Given the description of an element on the screen output the (x, y) to click on. 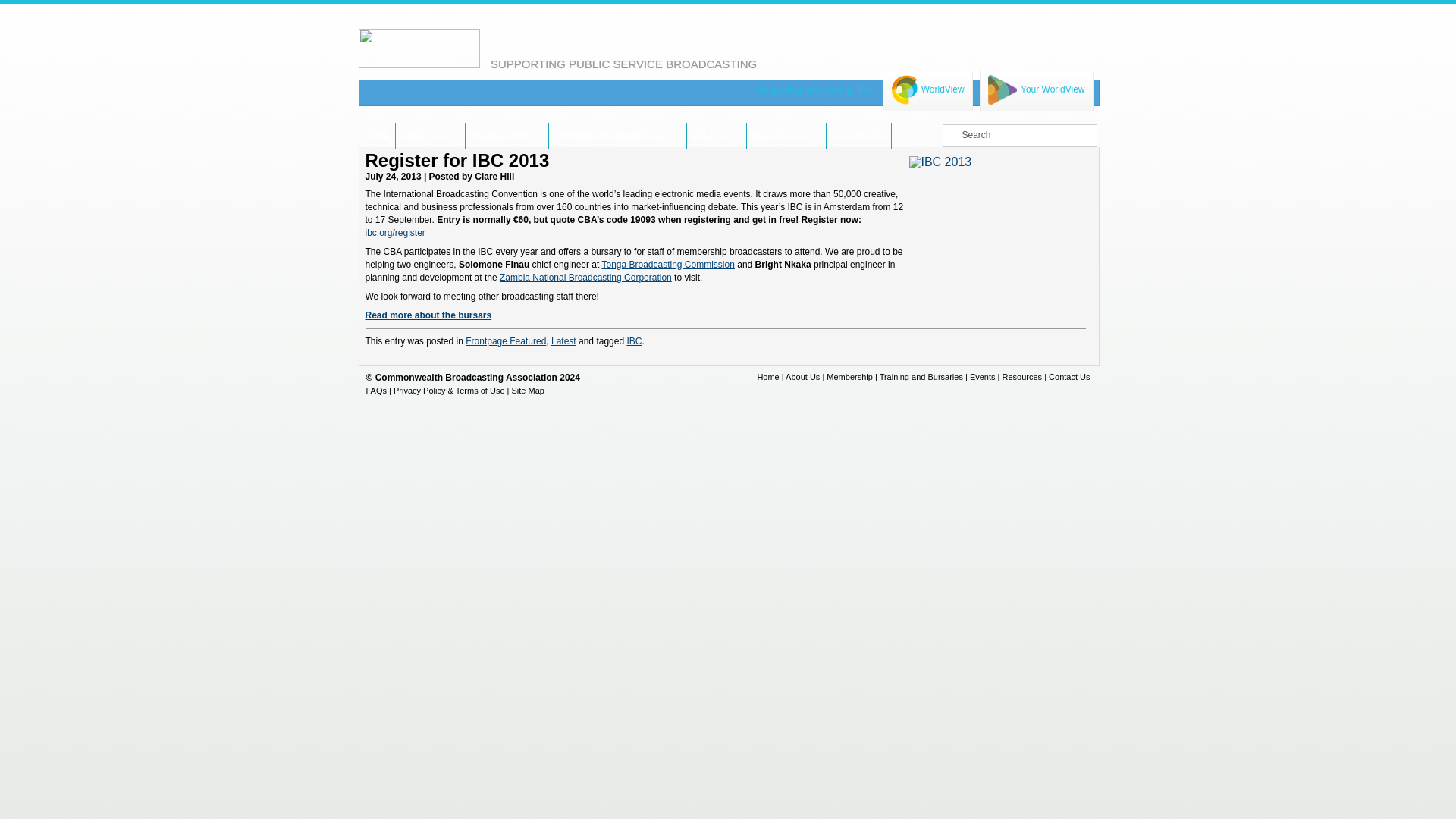
MEMBERSHIP (498, 135)
Your WorldView (1036, 89)
RESOURCES (778, 135)
WorldView (927, 89)
EVENTS (709, 135)
CONTACT US (858, 135)
HOME (376, 135)
Search (1019, 135)
ABOUT US (422, 135)
Search (21, 7)
